Given the description of an element on the screen output the (x, y) to click on. 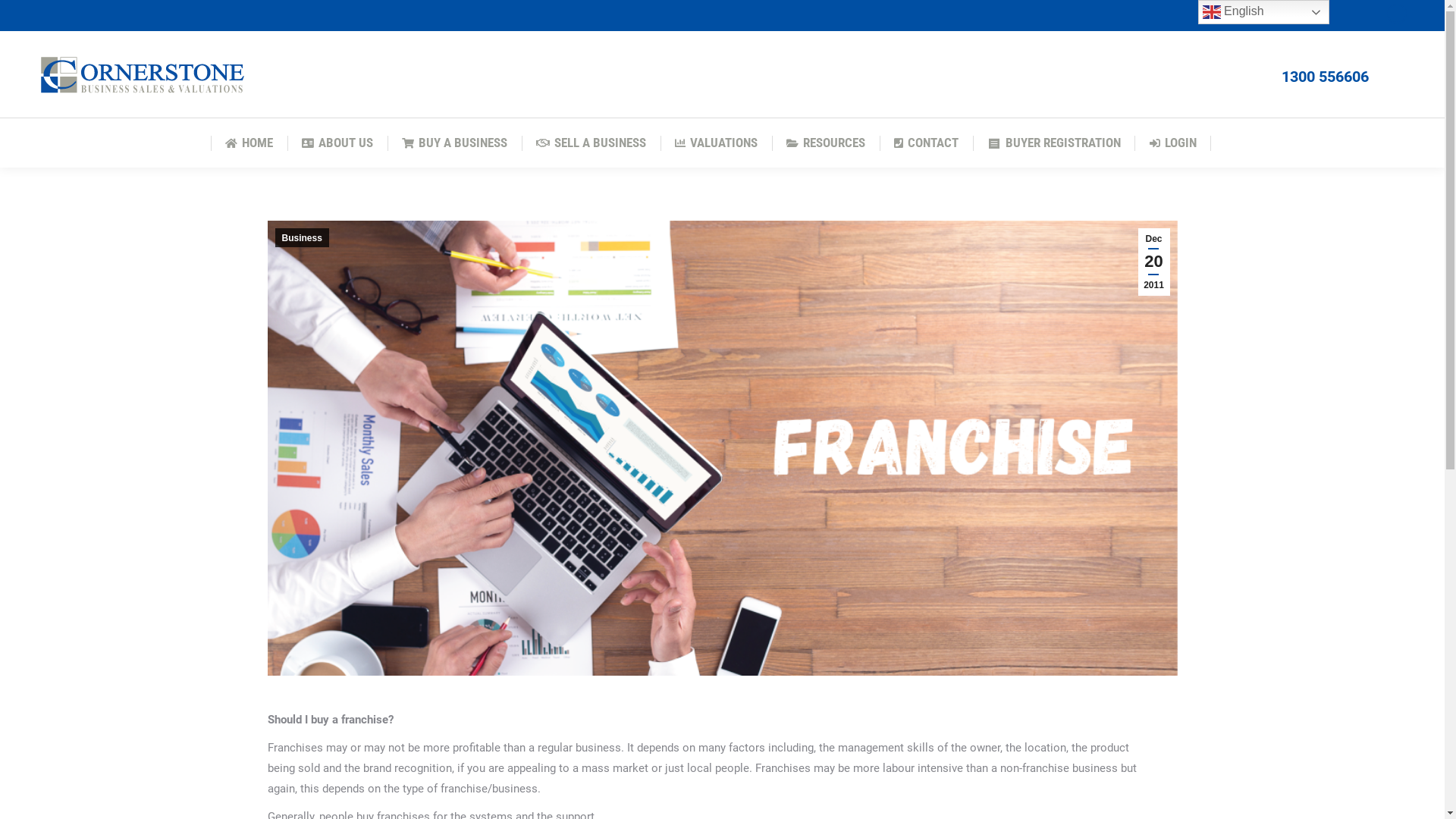
Facebook page opens in new window Element type: text (1396, 13)
Dec
20
2011 Element type: text (1153, 261)
Business Element type: text (301, 237)
BUY A BUSINESS Element type: text (454, 142)
RESOURCES Element type: text (825, 142)
VALUATIONS Element type: text (715, 142)
SELL A BUSINESS Element type: text (590, 142)
ABOUT US Element type: text (337, 142)
BUYER REGISTRATION Element type: text (1054, 142)
English Element type: text (1263, 12)
HOME Element type: text (248, 142)
Franchise a Business Element type: hover (721, 447)
CONTACT Element type: text (925, 142)
LOGIN Element type: text (1172, 142)
